Given the description of an element on the screen output the (x, y) to click on. 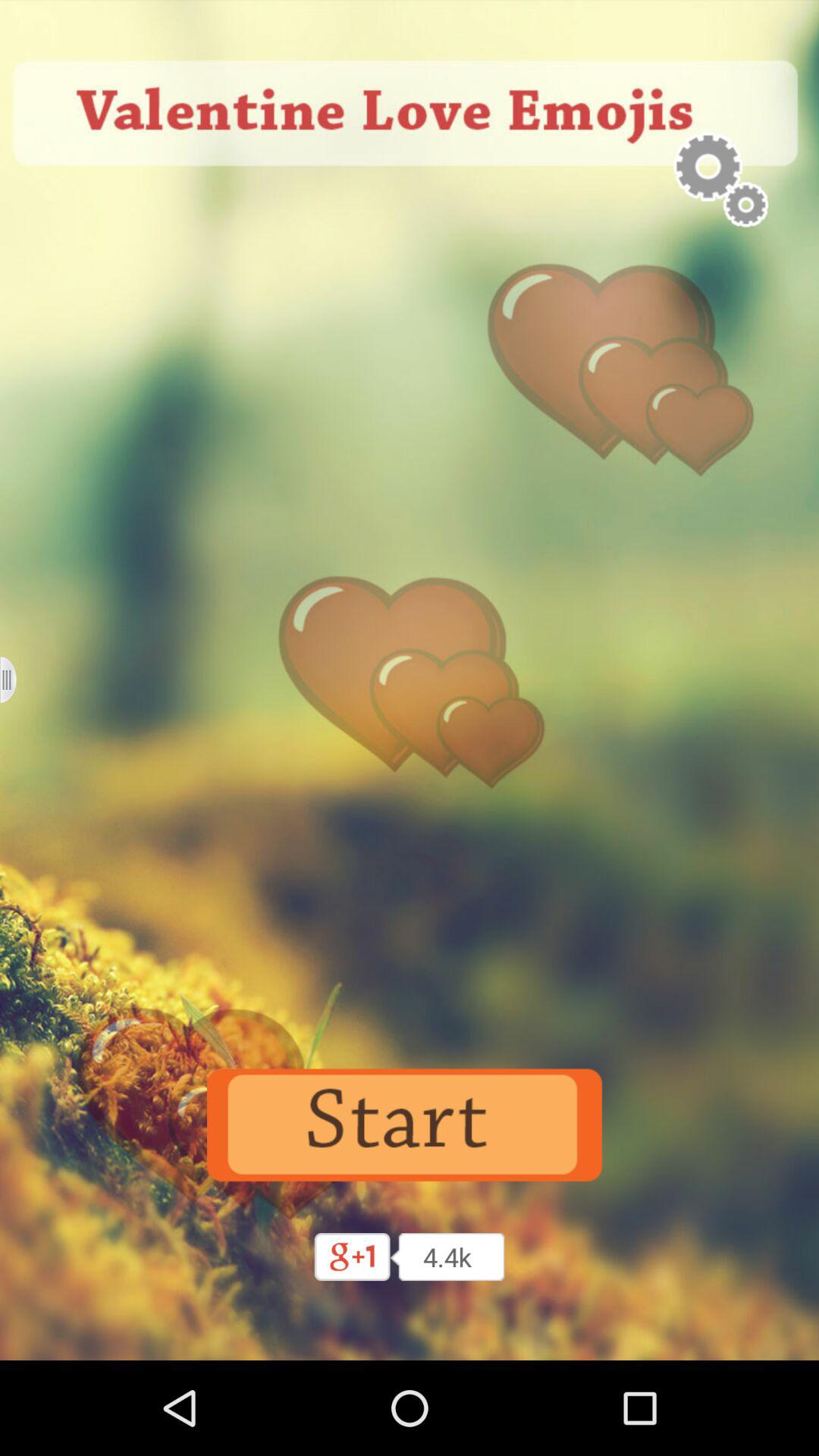
to start the process (409, 1125)
